Given the description of an element on the screen output the (x, y) to click on. 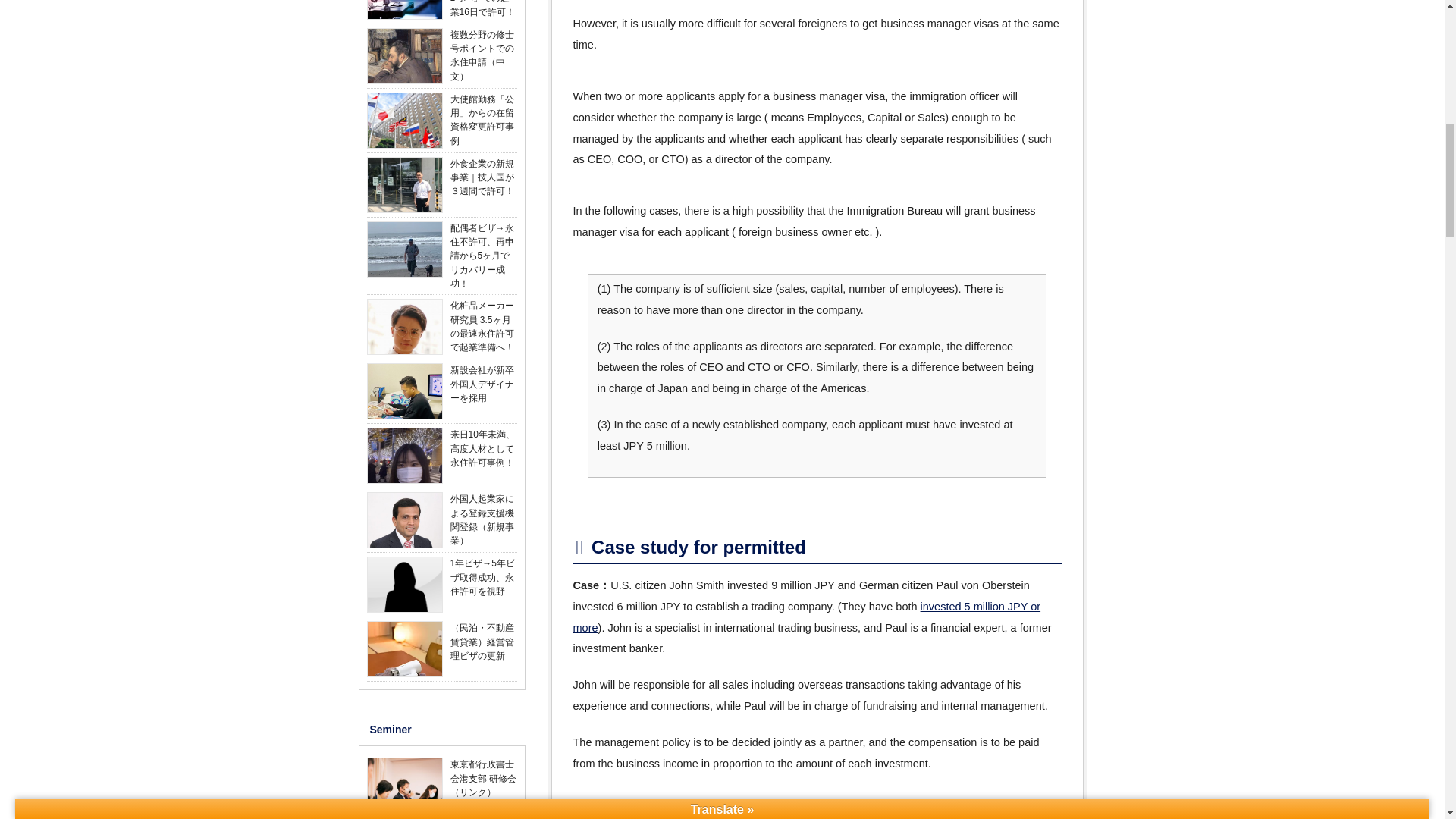
invested 5 million JPY or more (807, 616)
